Given the description of an element on the screen output the (x, y) to click on. 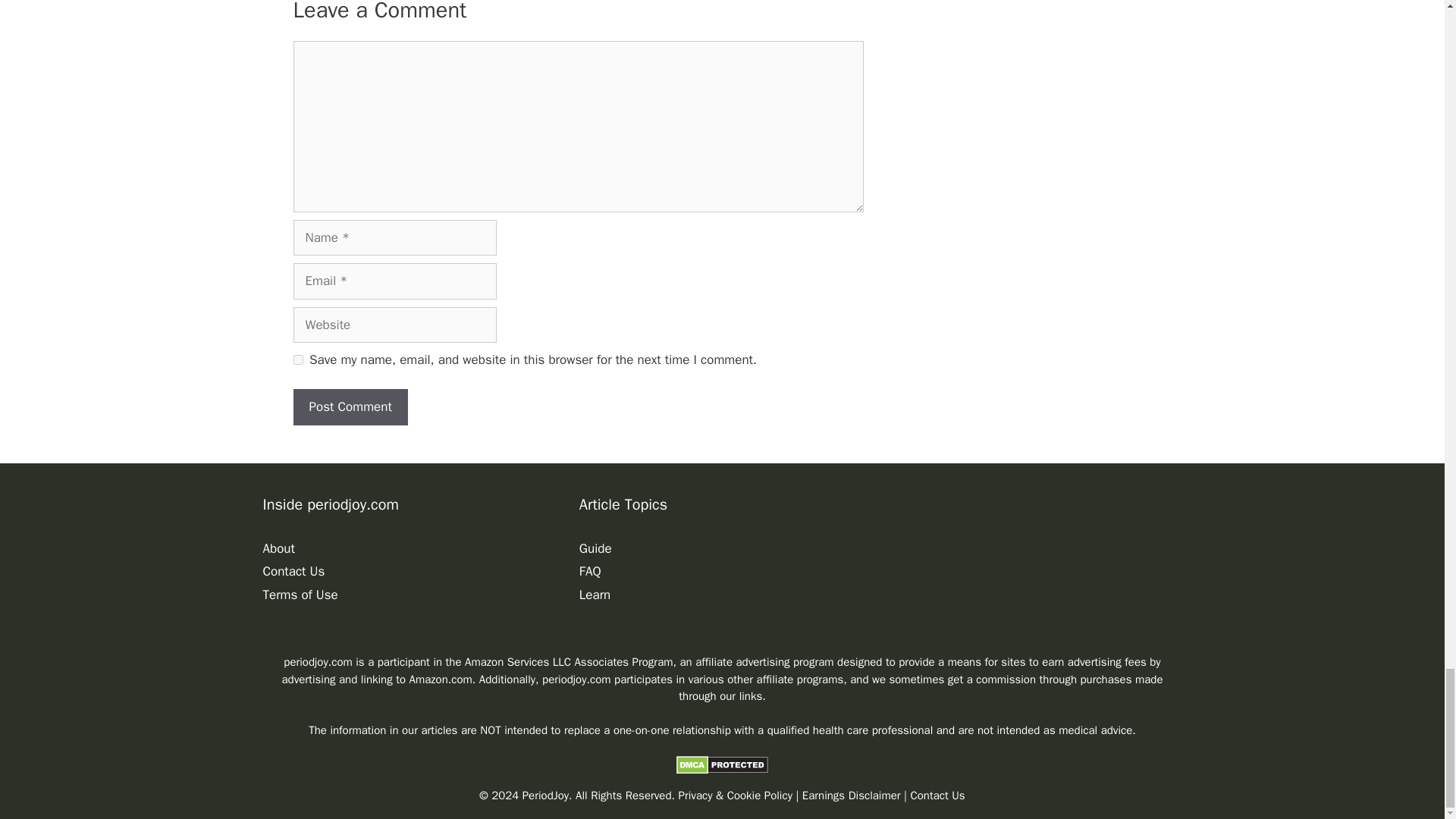
DMCA.com Protection Status (722, 770)
yes (297, 359)
Post Comment (349, 407)
Post Comment (349, 407)
